Given the description of an element on the screen output the (x, y) to click on. 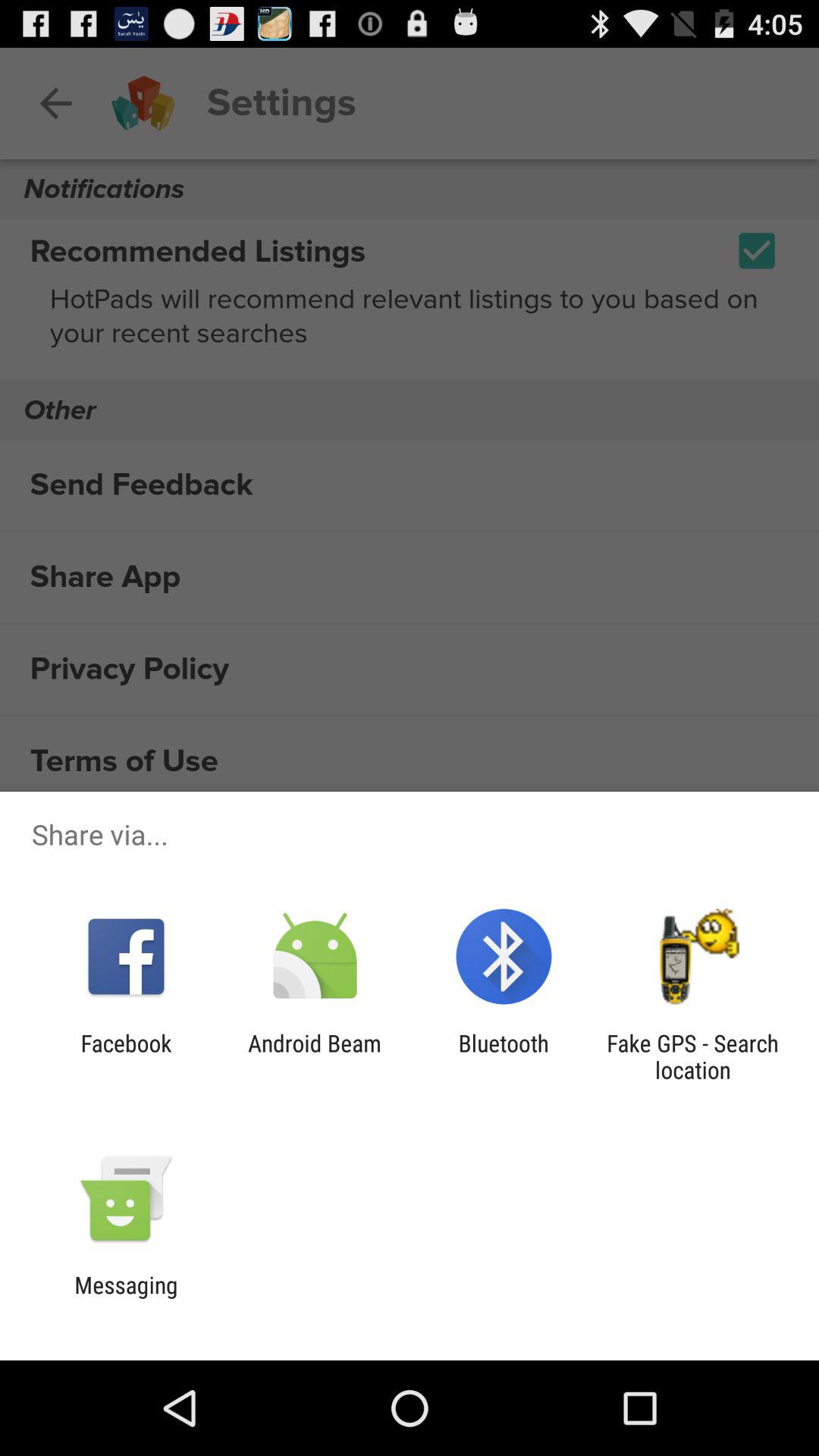
select app to the left of bluetooth item (314, 1056)
